Given the description of an element on the screen output the (x, y) to click on. 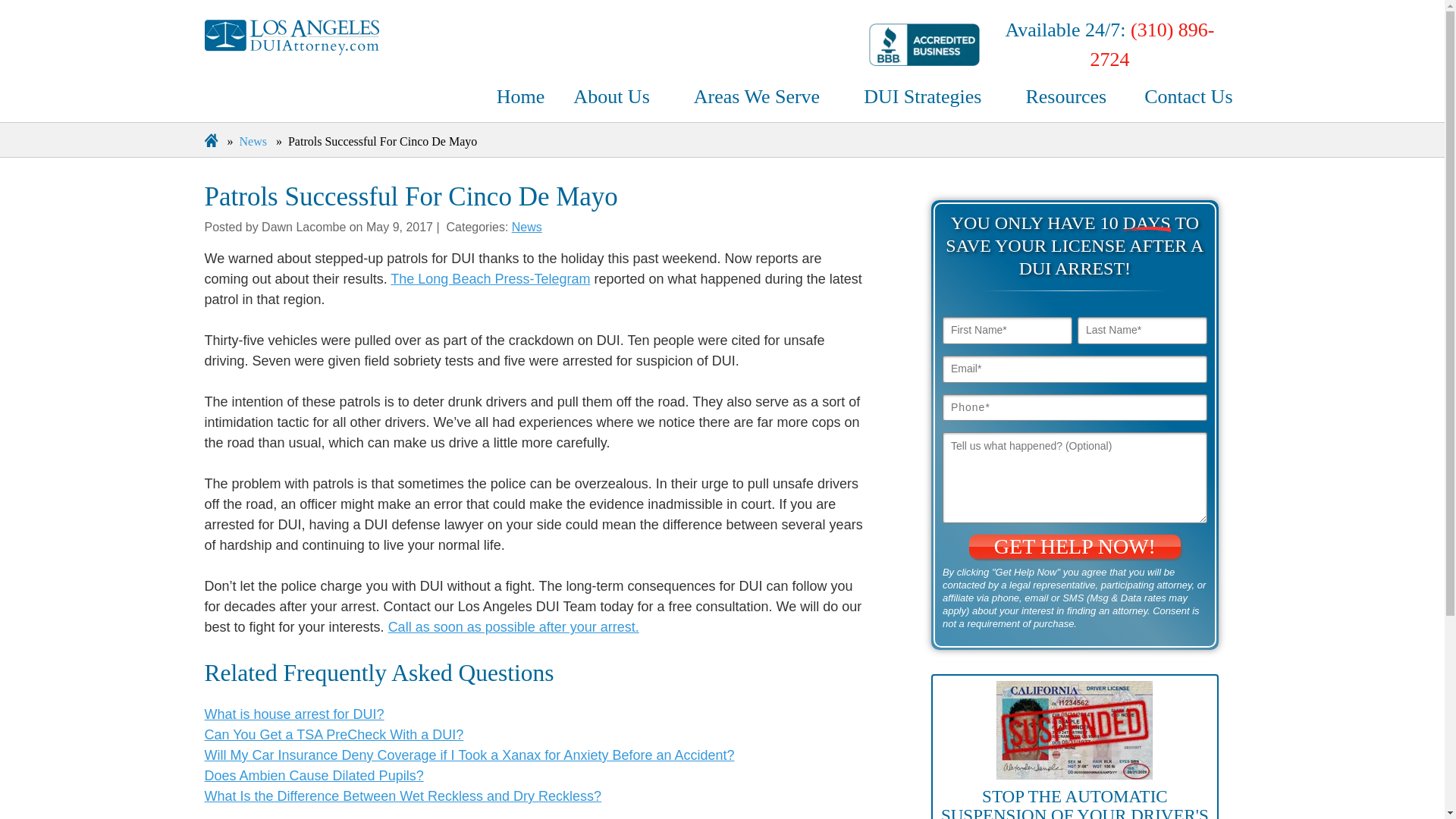
IMMEDIATE ATTORNEY RESPONSE (661, 660)
Get Help Now! (1074, 546)
